Given the description of an element on the screen output the (x, y) to click on. 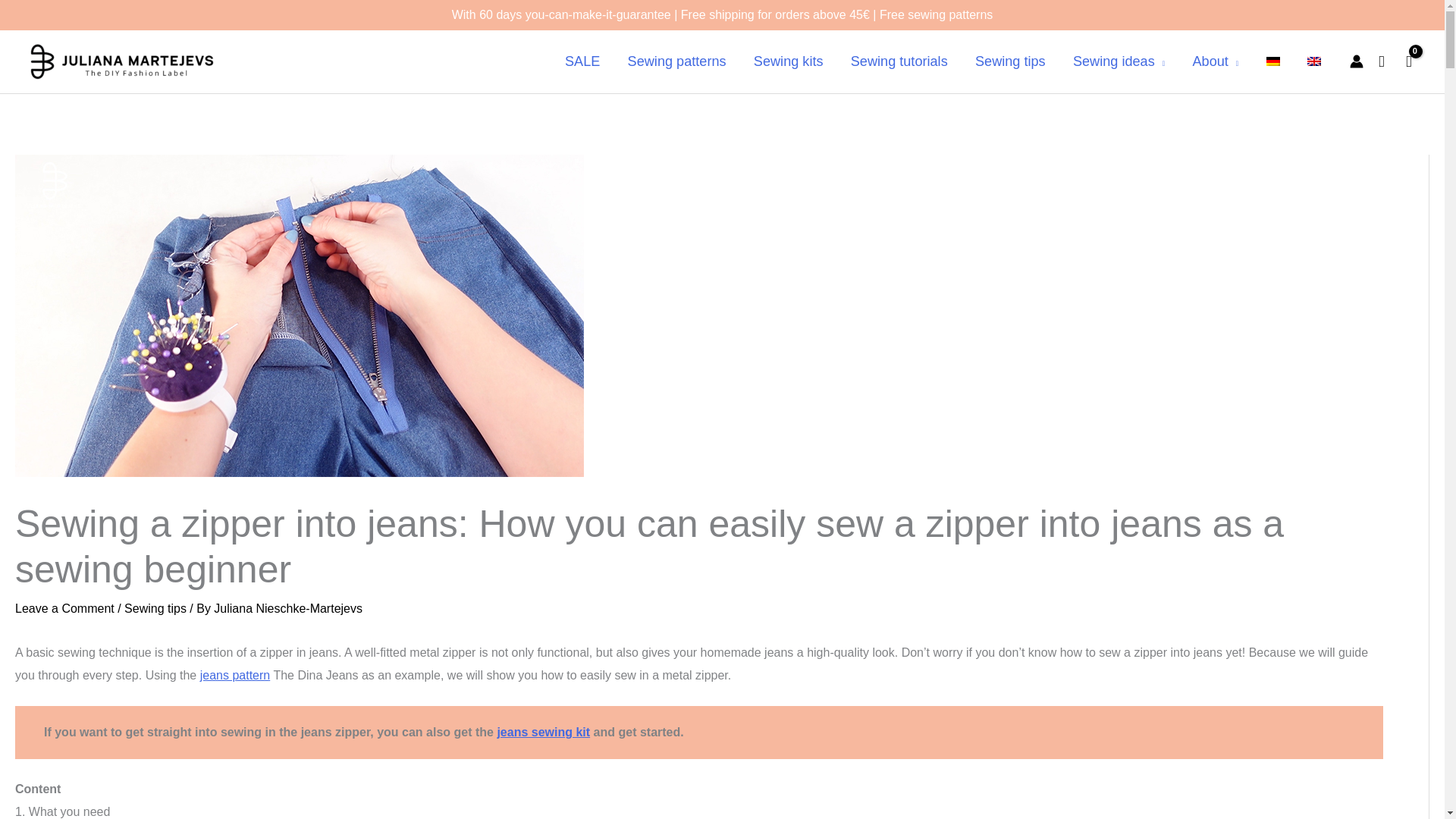
With 60 days you-can-make-it-guarantee (561, 14)
Sewing patterns (675, 61)
Sewing ideas (1119, 61)
Sewing tips (1009, 61)
About (1214, 61)
View all posts by Juliana Nieschke-Martejevs (288, 608)
Sewing tutorials (898, 61)
SALE (582, 61)
Sewing kits (788, 61)
Free sewing patterns (935, 14)
